Given the description of an element on the screen output the (x, y) to click on. 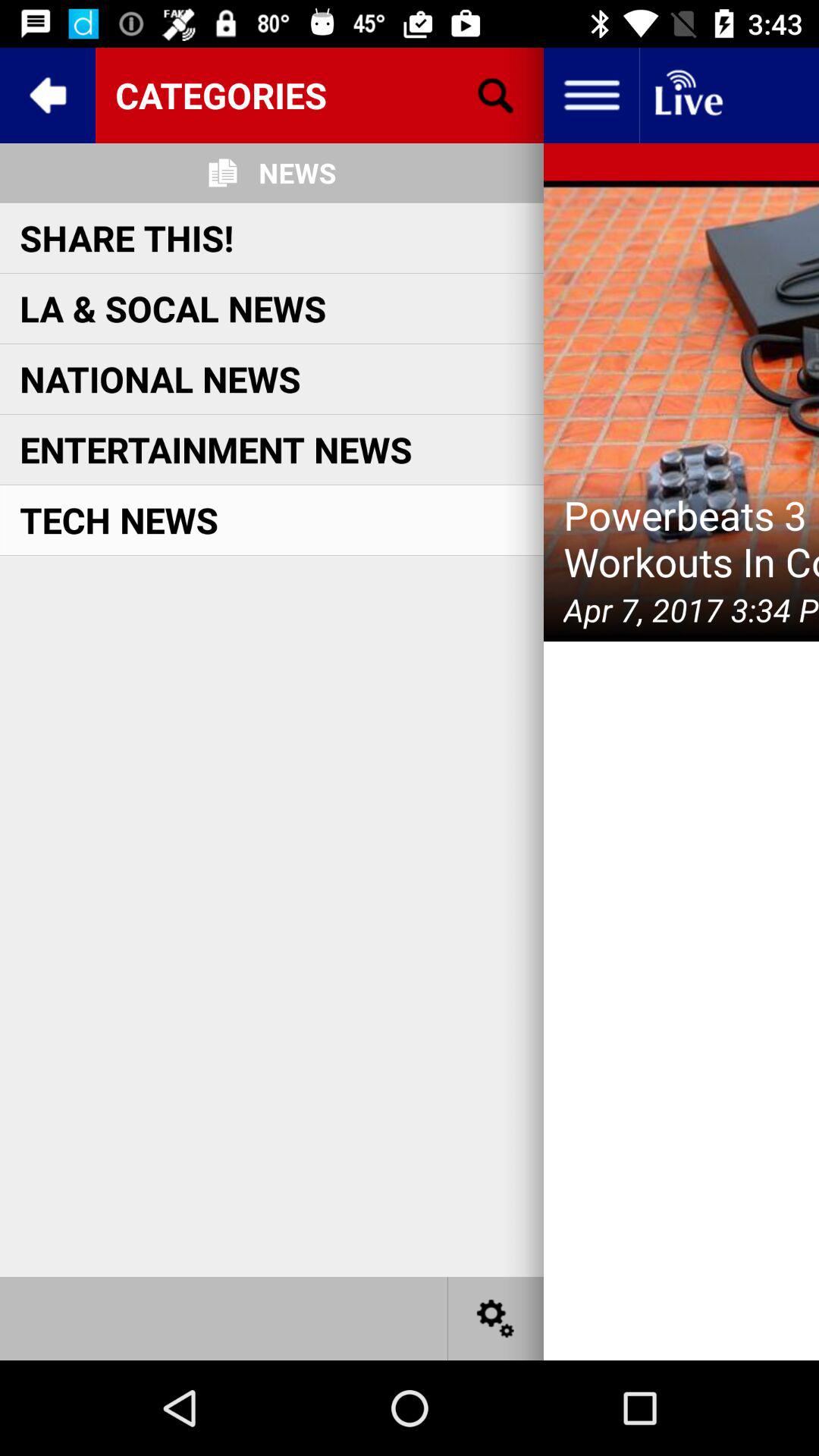
go to main menu (591, 95)
